Given the description of an element on the screen output the (x, y) to click on. 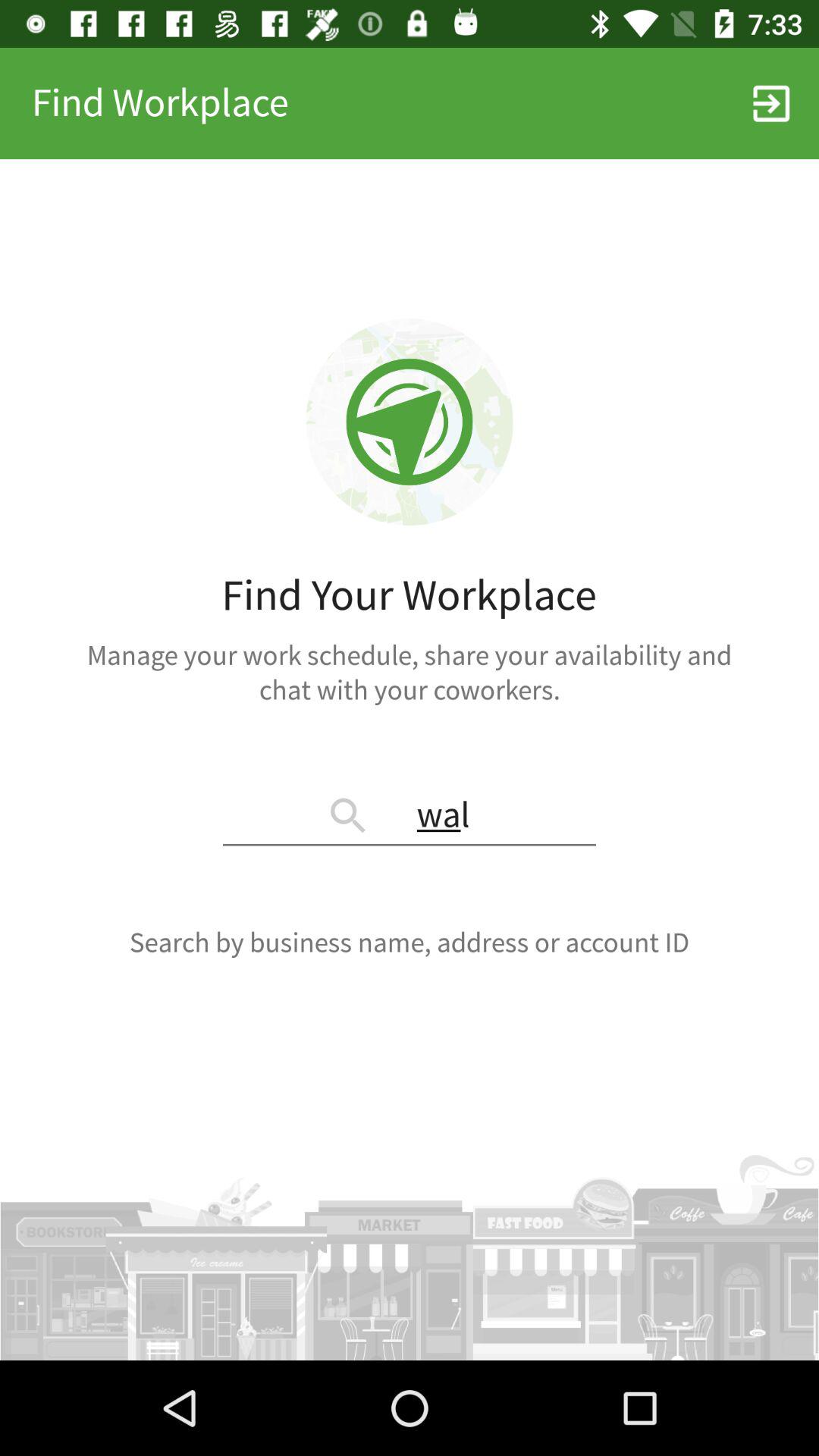
select item next to find workplace (771, 103)
